Given the description of an element on the screen output the (x, y) to click on. 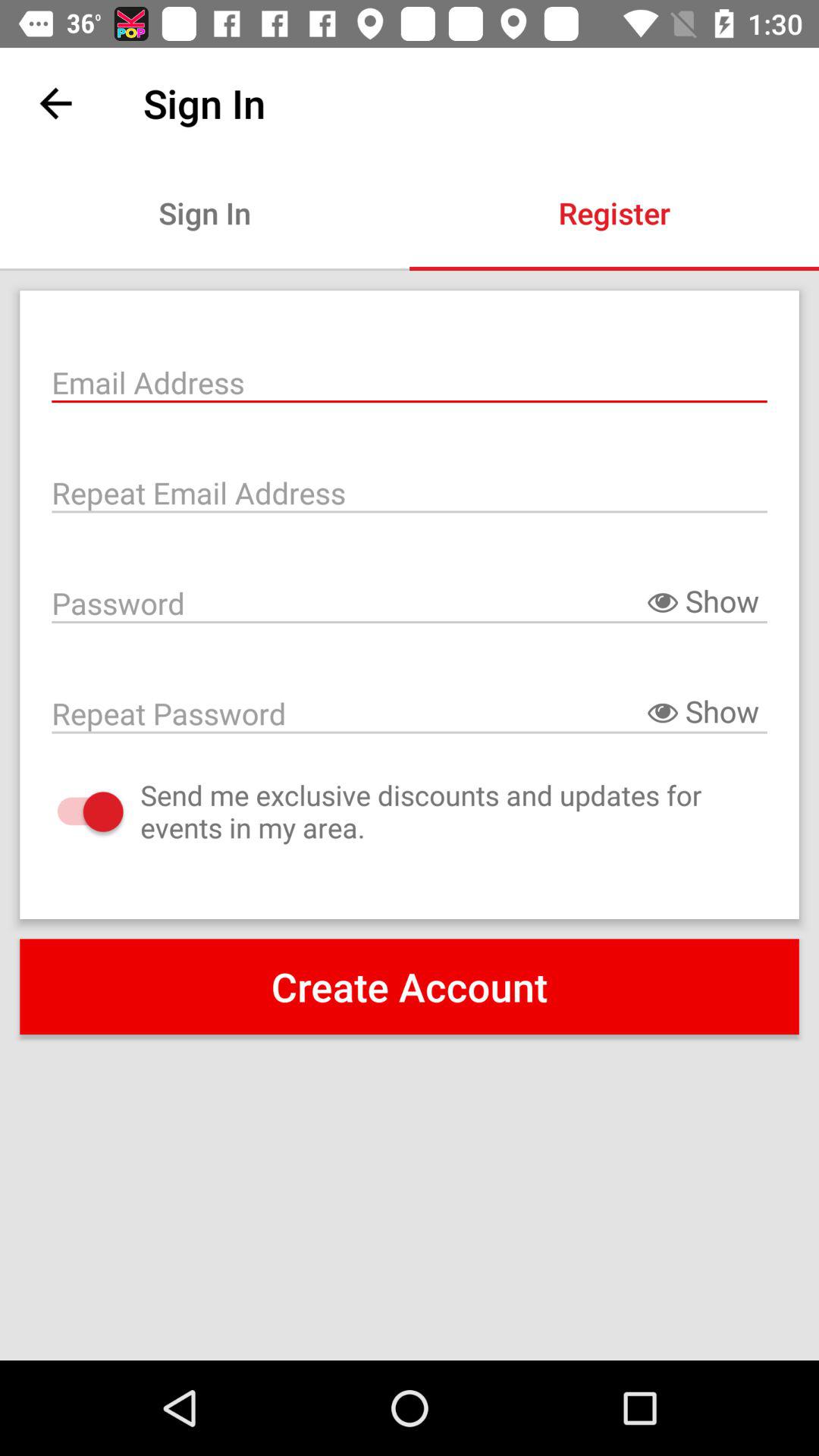
turn off the item to the left of the send me exclusive icon (74, 811)
